Given the description of an element on the screen output the (x, y) to click on. 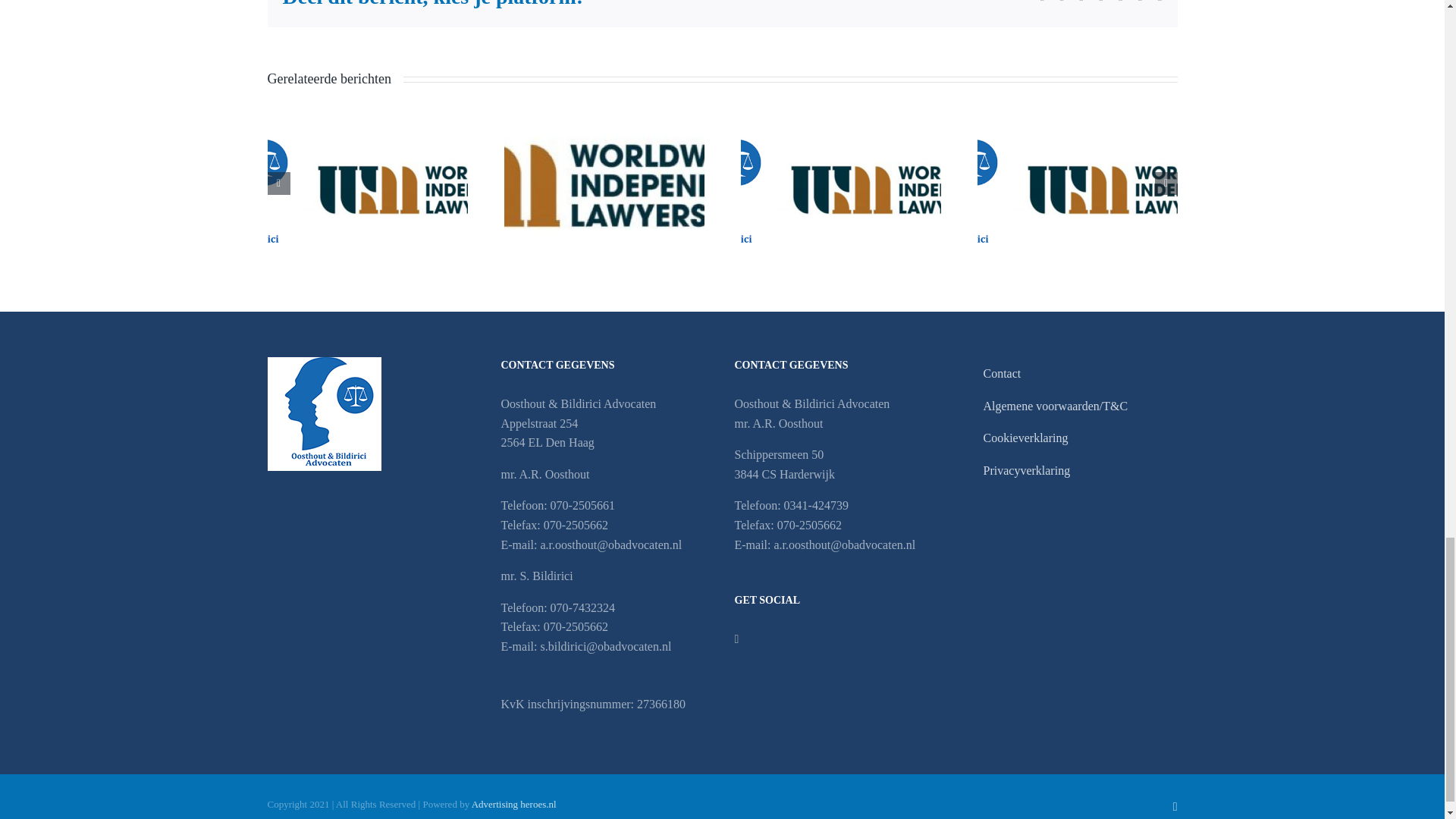
LinkedIn (735, 639)
LinkedIn (1175, 806)
